Given the description of an element on the screen output the (x, y) to click on. 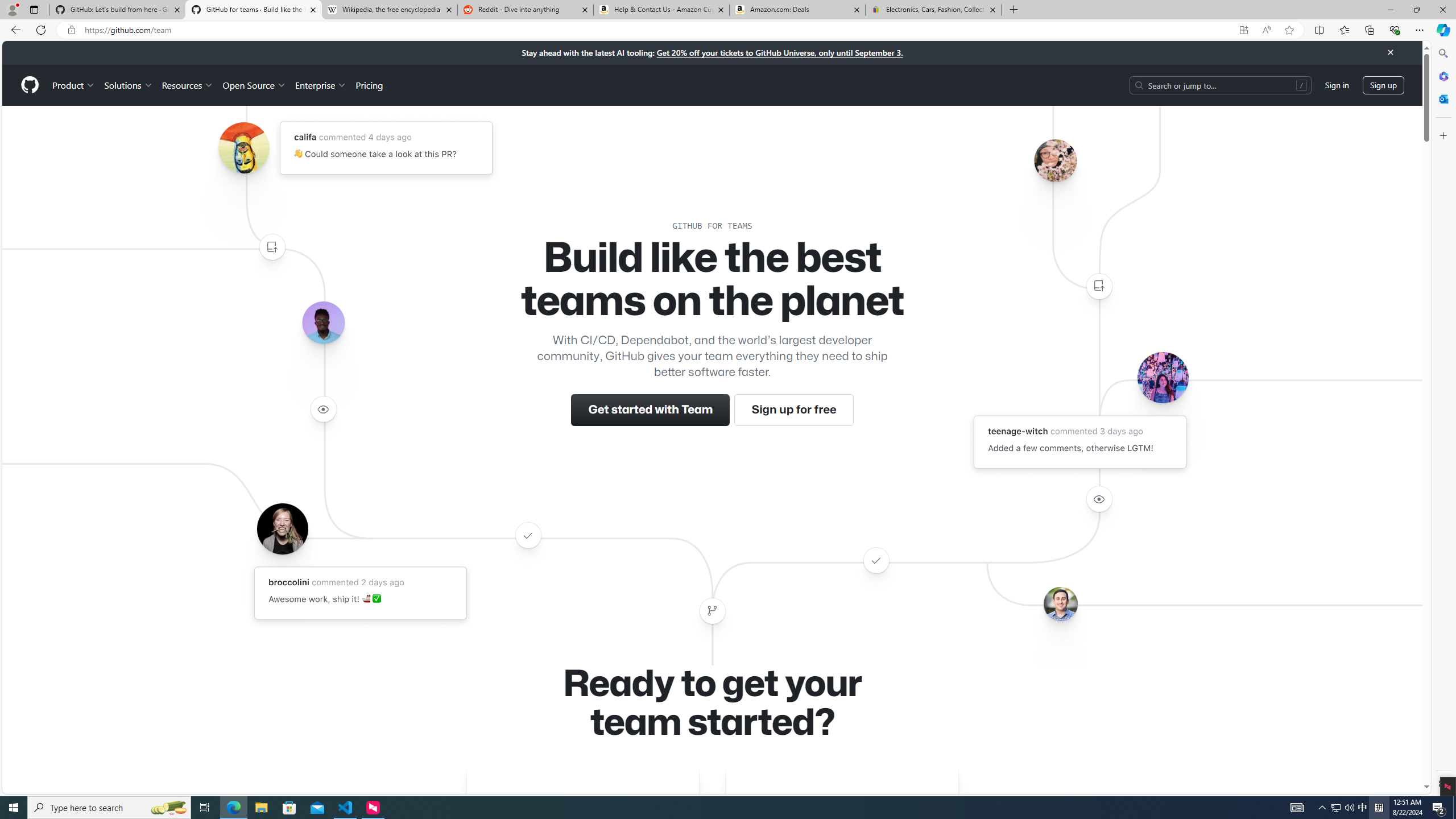
Get started with Team (650, 409)
Avatar of the user lerebear (323, 322)
Avatar of the user broccolini (282, 528)
